Given the description of an element on the screen output the (x, y) to click on. 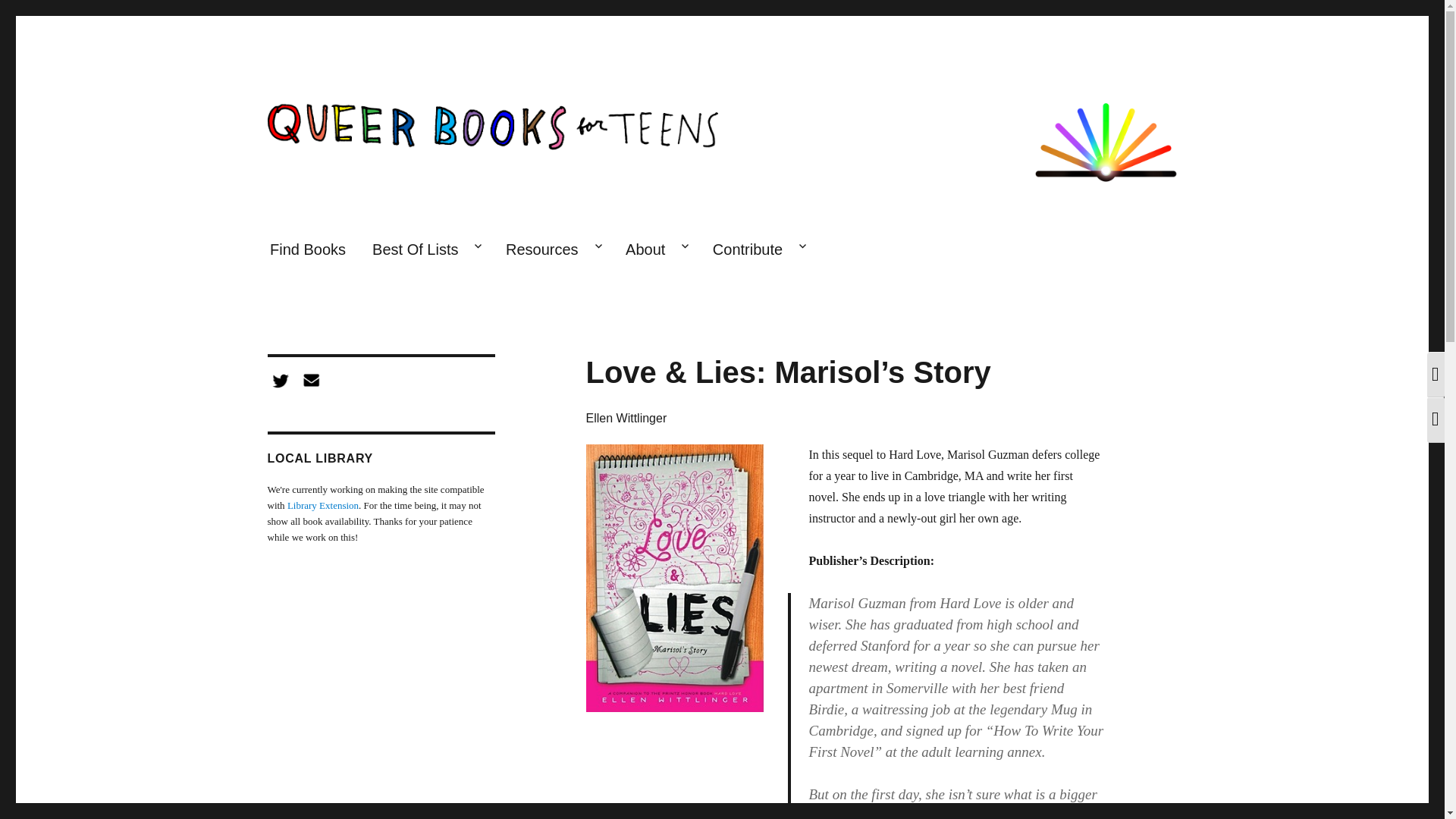
Resources (551, 250)
Find Books (307, 250)
About (656, 250)
Contribute (757, 250)
Best Of Lists (426, 250)
